Given the description of an element on the screen output the (x, y) to click on. 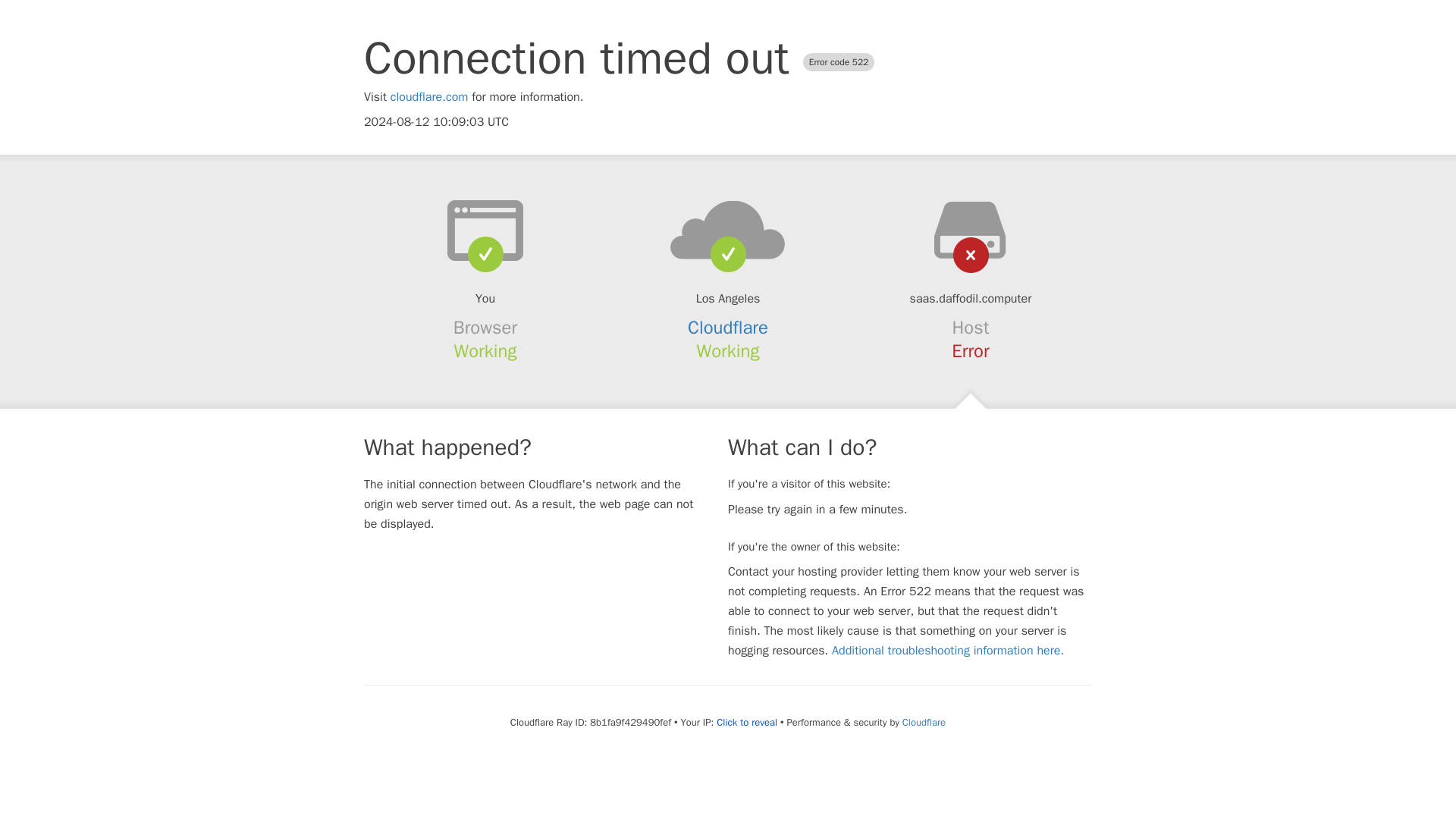
Cloudflare (923, 721)
cloudflare.com (429, 96)
Cloudflare (727, 327)
Additional troubleshooting information here. (947, 650)
Click to reveal (746, 722)
